Given the description of an element on the screen output the (x, y) to click on. 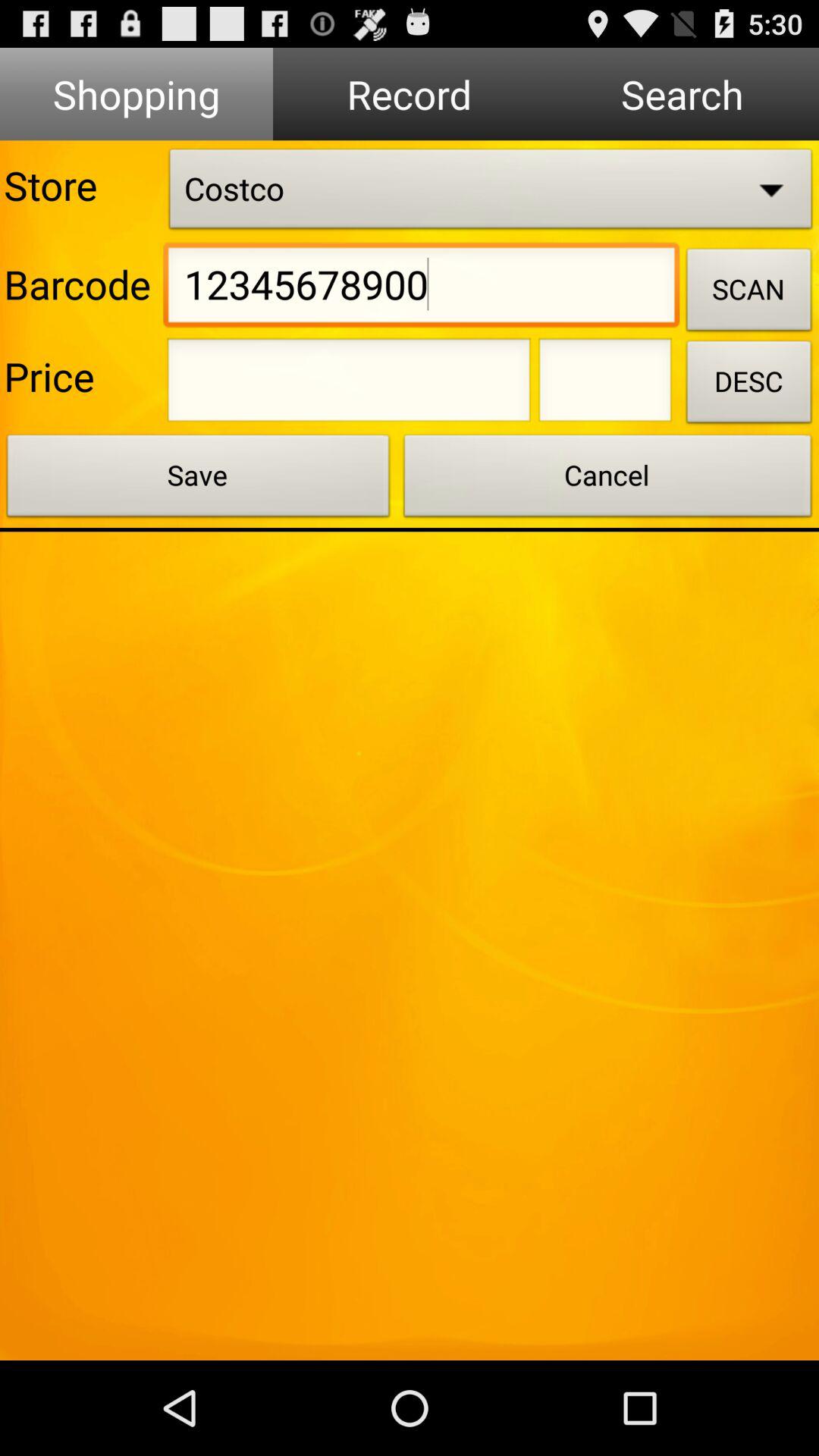
price (348, 384)
